Given the description of an element on the screen output the (x, y) to click on. 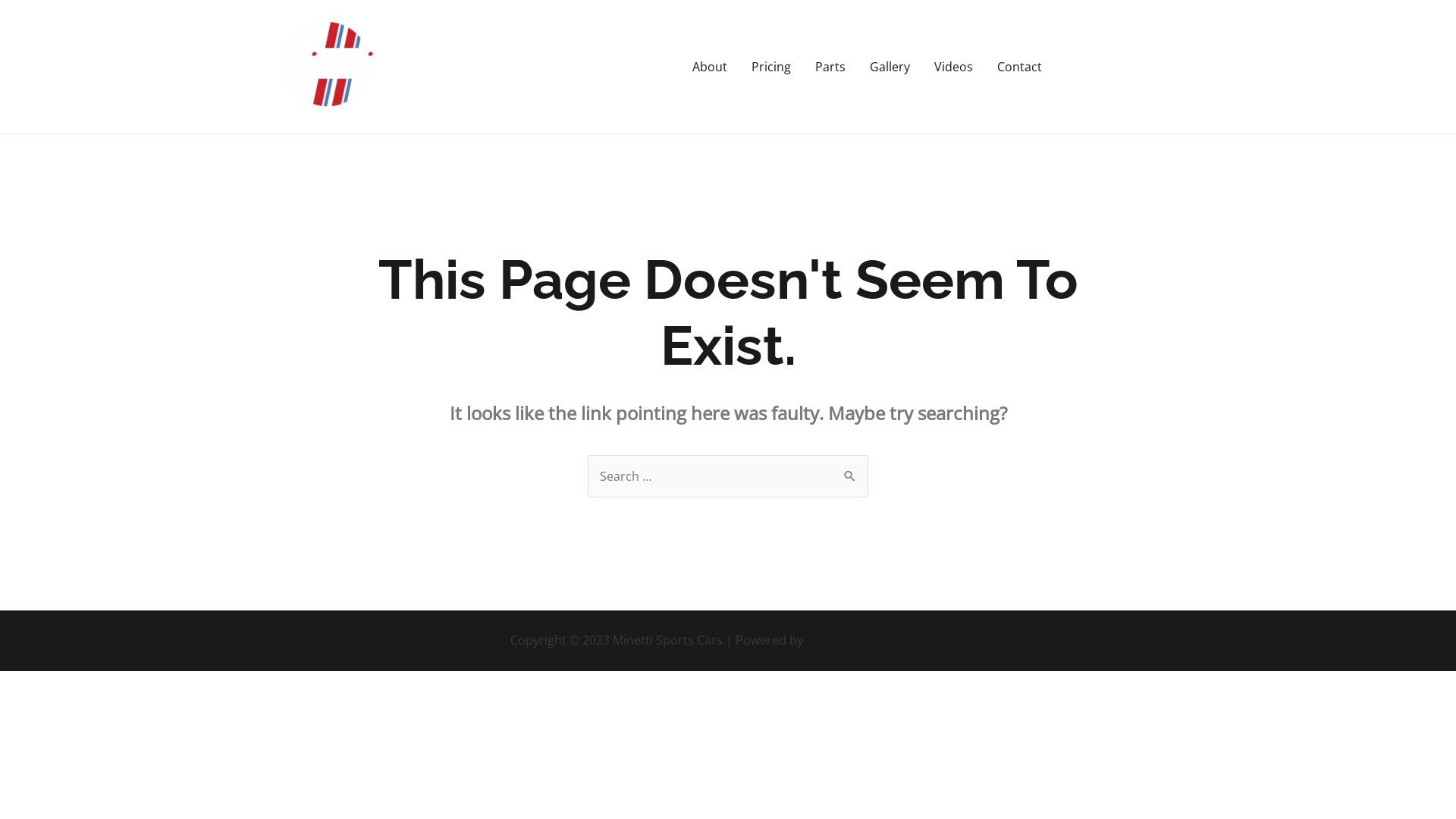
Astra WordPress Theme Element type: text (875, 639)
Search Element type: text (851, 469)
About Element type: text (709, 66)
Parts Element type: text (830, 66)
Gallery Element type: text (889, 66)
RESERVATION Element type: text (1126, 66)
Contact Element type: text (1019, 66)
Videos Element type: text (953, 66)
Pricing Element type: text (771, 66)
